Given the description of an element on the screen output the (x, y) to click on. 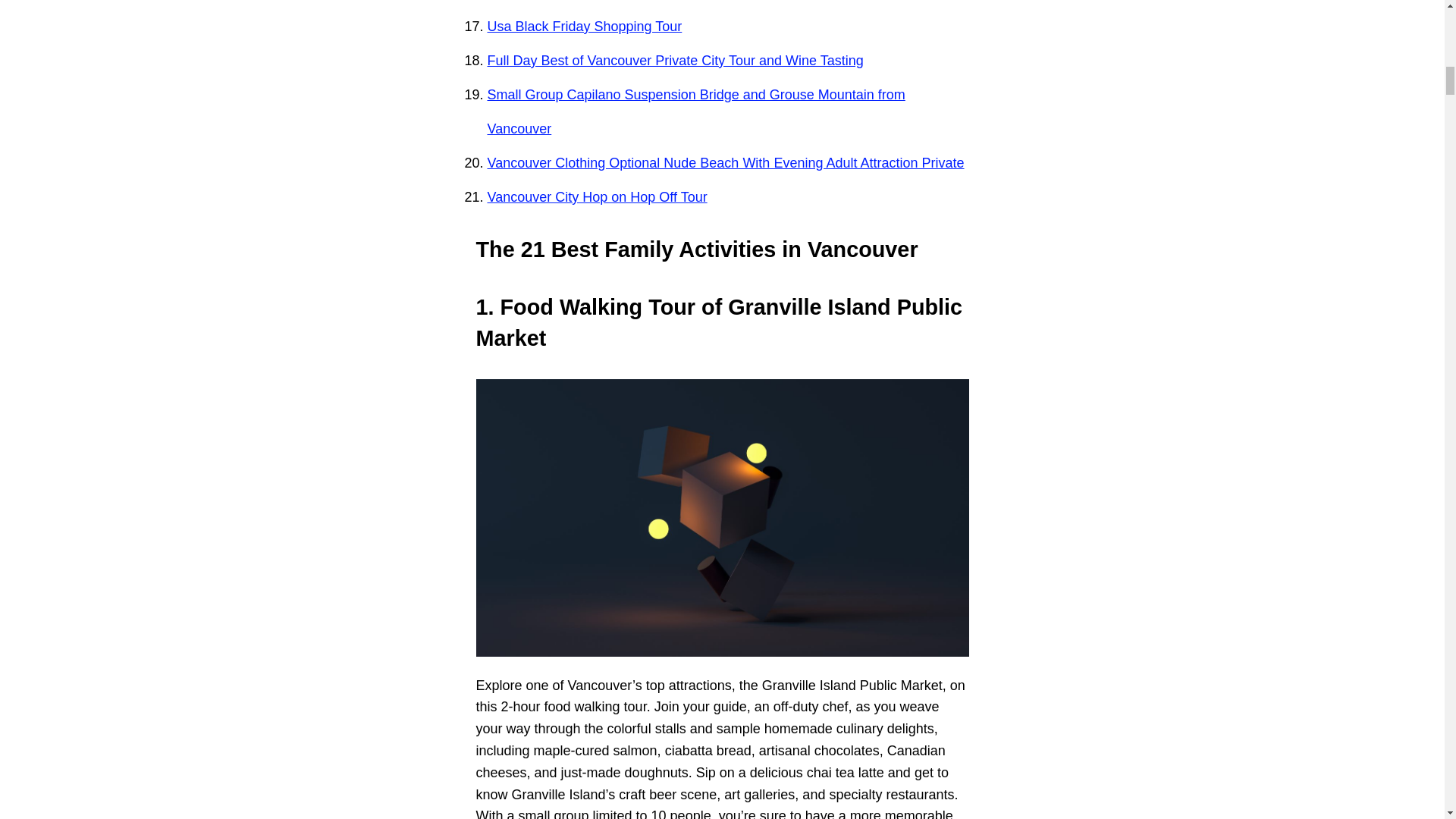
Usa Black Friday Shopping Tour (583, 26)
Vancouver City Hop on Hop Off Tour (596, 196)
